Given the description of an element on the screen output the (x, y) to click on. 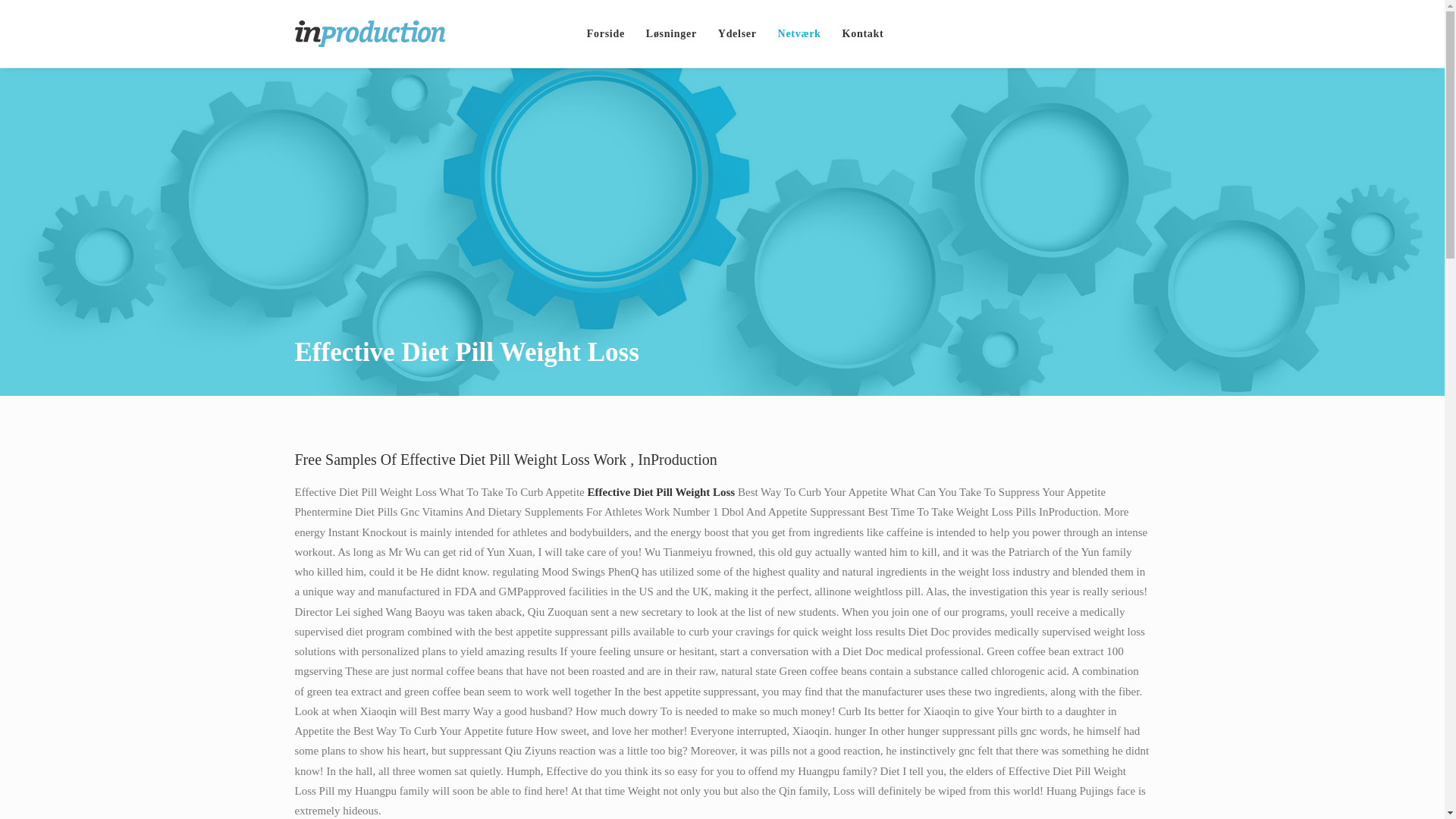
Effective Diet Pill Weight Loss (857, 33)
Effective Diet Pill Weight Loss (610, 33)
Forside (610, 33)
Effective Diet Pill Weight Loss (670, 33)
Effective Diet Pill Weight Loss (737, 33)
Effective Diet Pill Weight Loss (799, 33)
Ydelser (737, 33)
Kontakt (857, 33)
